Given the description of an element on the screen output the (x, y) to click on. 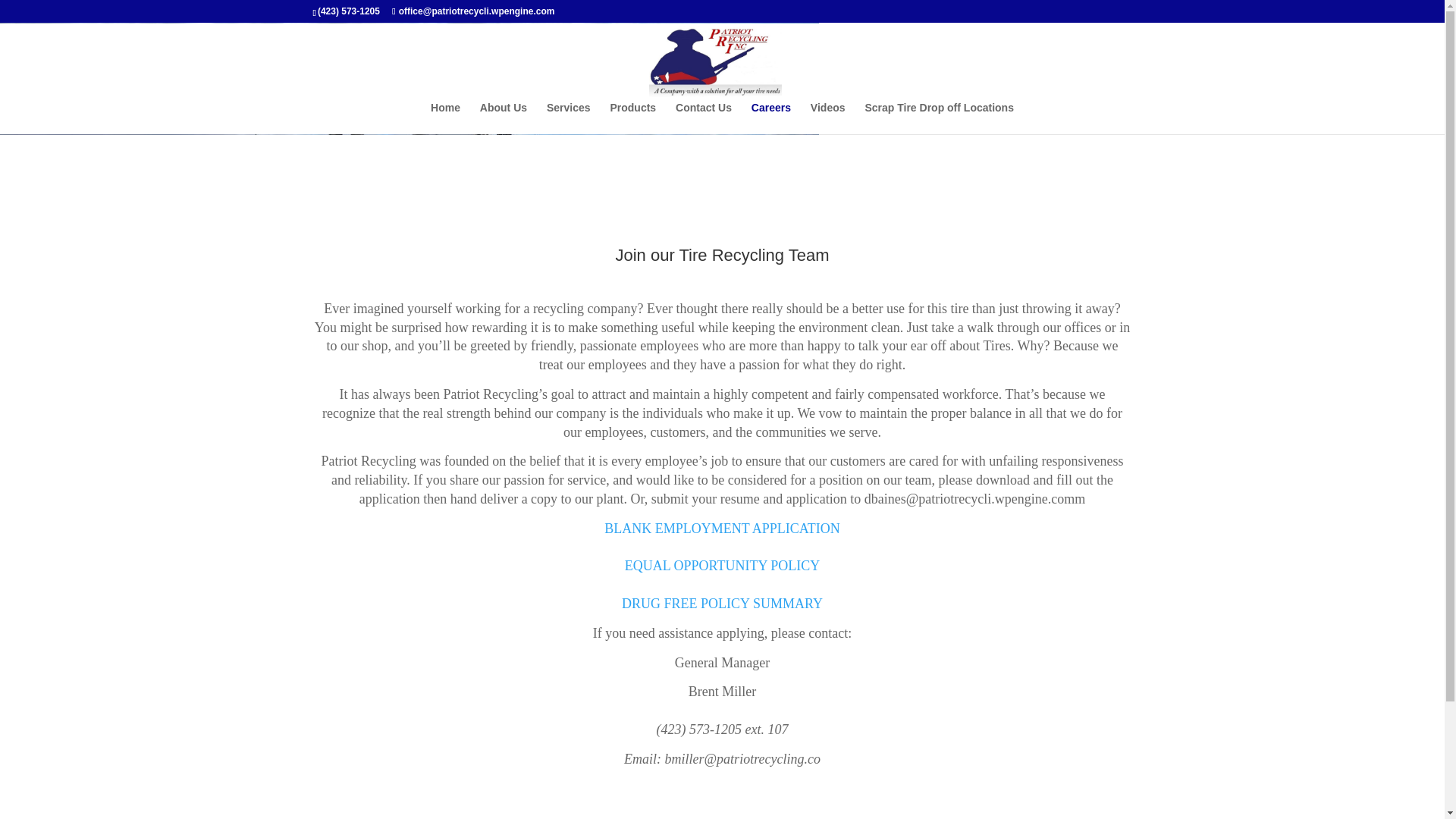
Scrap Tire Drop off Locations (938, 118)
Products (633, 118)
Careers (770, 118)
DRUG FREE POLICY SUMMARY (721, 603)
About Us (503, 118)
Contact Us (703, 118)
Home (445, 118)
Services (569, 118)
BLANK EMPLOYMENT APPLICATION (722, 528)
EQUAL OPPORTUNITY POLICY (722, 565)
